Given the description of an element on the screen output the (x, y) to click on. 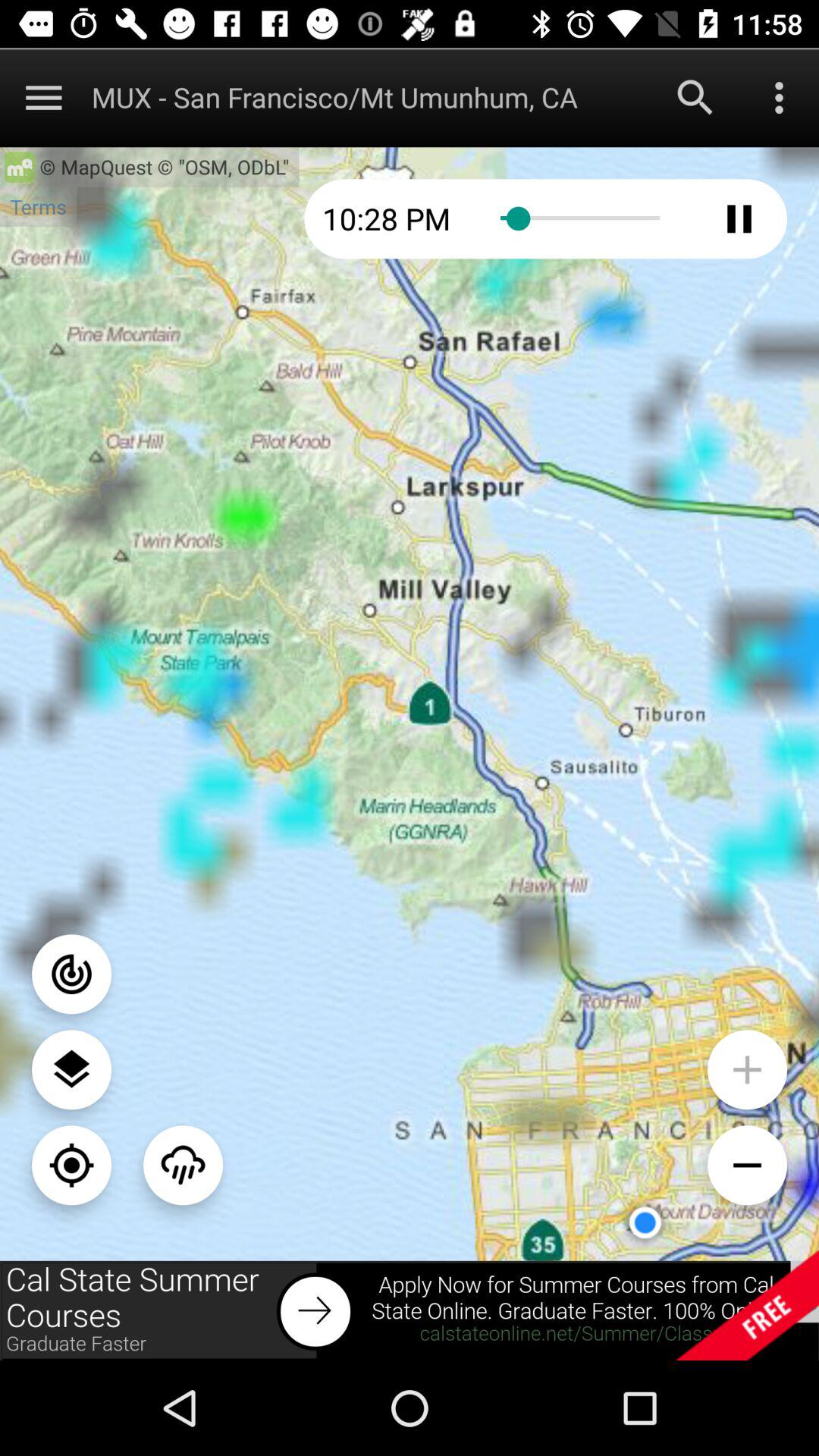
menu button (779, 97)
